Given the description of an element on the screen output the (x, y) to click on. 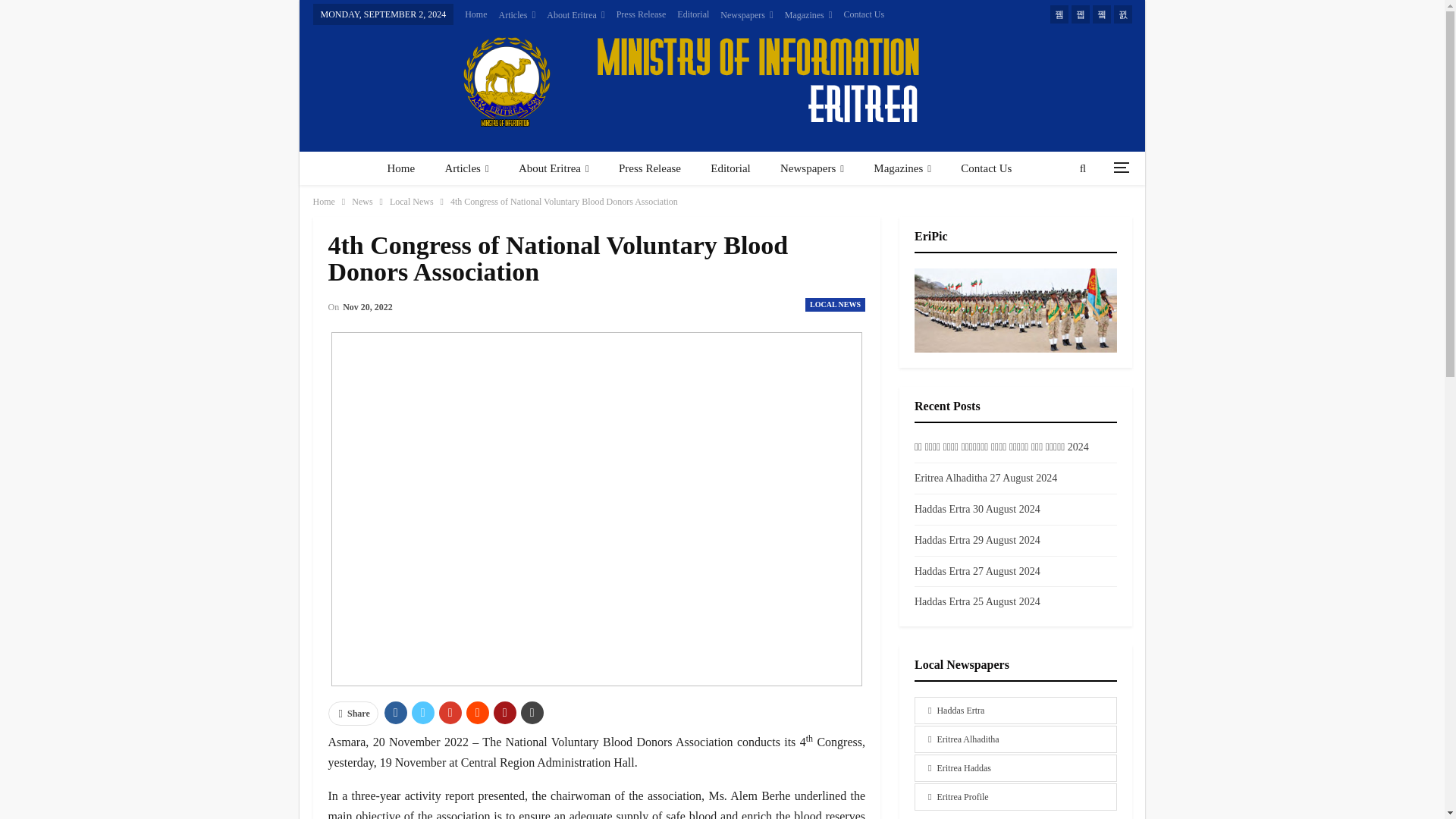
Newspapers (746, 14)
Articles (466, 168)
Articles (517, 14)
Editorial (693, 14)
Contact Us (863, 14)
Magazines (808, 14)
Home (400, 168)
Press Release (640, 14)
Home (475, 14)
About Eritrea (575, 14)
